Given the description of an element on the screen output the (x, y) to click on. 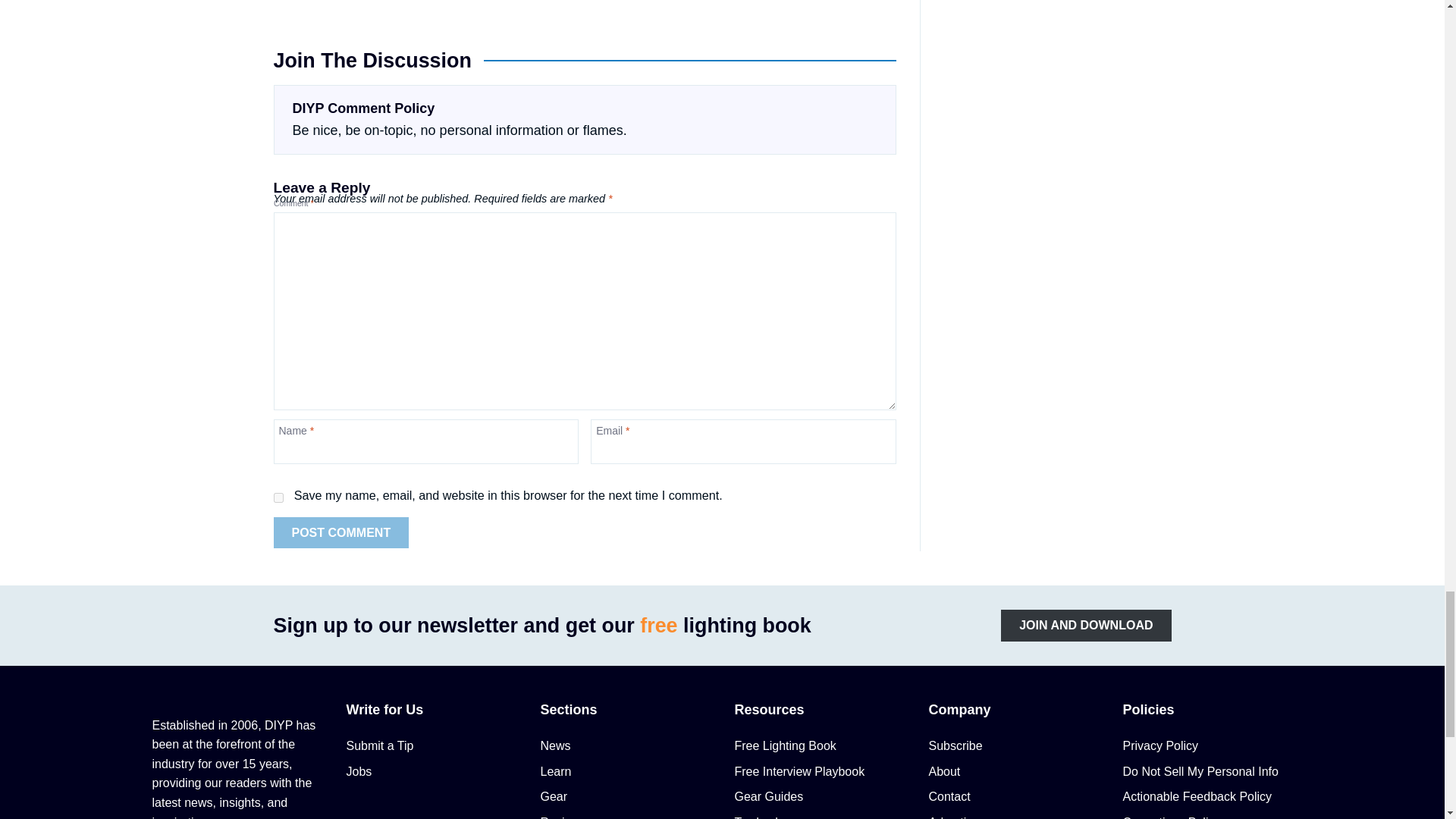
Post Comment (341, 532)
yes (277, 497)
